Given the description of an element on the screen output the (x, y) to click on. 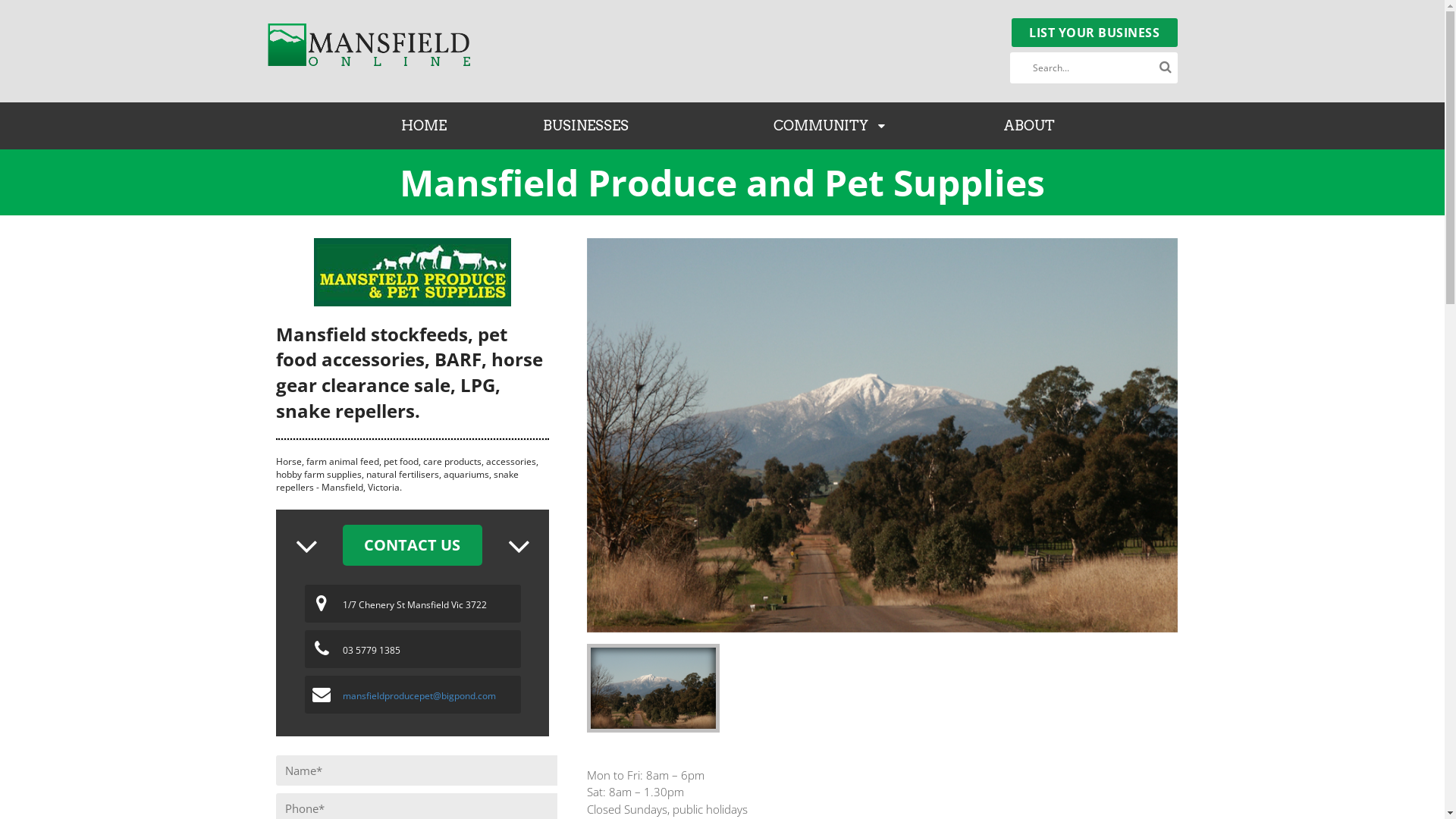
ABOUT Element type: text (1029, 125)
HOME Element type: text (423, 125)
Search Element type: text (1165, 66)
LIST YOUR BUSINESS Element type: text (1094, 32)
COMMUNITY Element type: text (829, 125)
BUSINESSES Element type: text (586, 125)
mansfieldproducepet@bigpond.com Element type: text (418, 695)
